Given the description of an element on the screen output the (x, y) to click on. 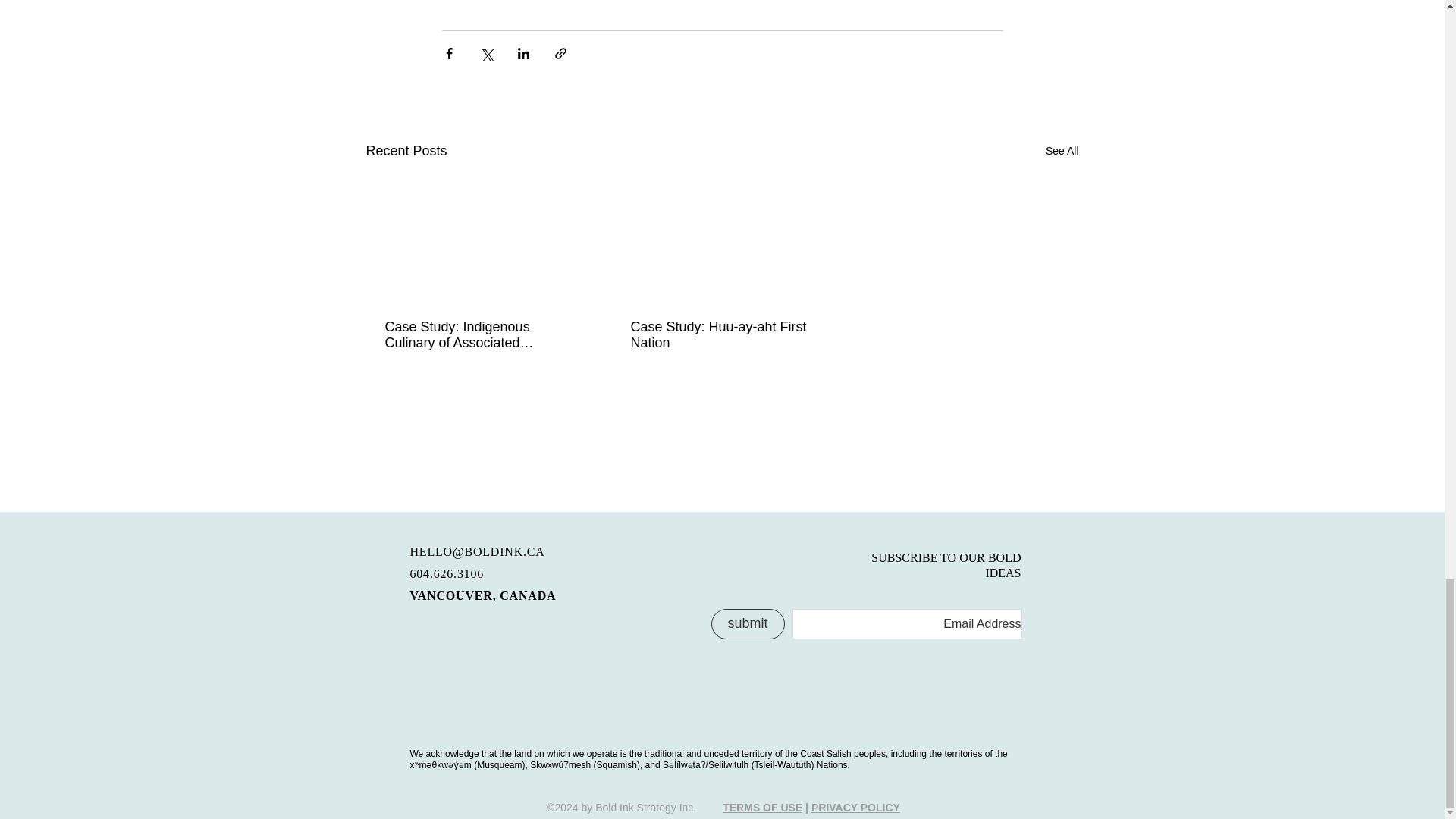
PRIVACY POLICY (854, 807)
submit (747, 624)
Case Study: Huu-ay-aht First Nation (721, 335)
Case Study: Indigenous Culinary of Associated Nations (476, 335)
See All (1061, 151)
604.626.3106 (446, 573)
TERMS OF USE (762, 807)
